Given the description of an element on the screen output the (x, y) to click on. 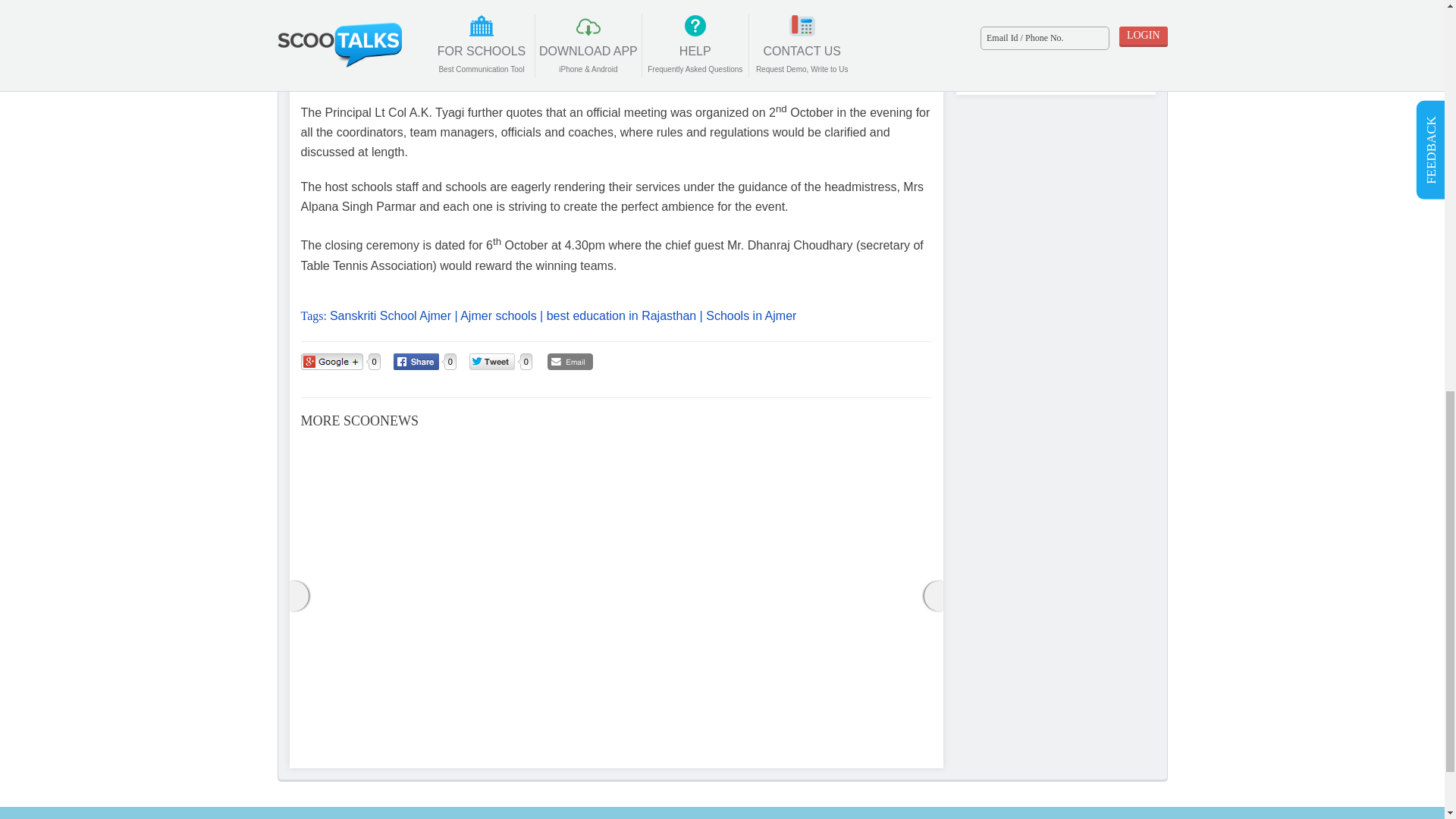
View News (826, 492)
View News (399, 485)
View News (830, 440)
View News (616, 440)
best education in Rajasthan (621, 315)
Grooming the groomers at this school (610, 504)
Read More... (893, 728)
 Best Education In Rajasthan (621, 315)
View News (610, 504)
Sanskriti School Ajmer (390, 315)
Read More... (464, 728)
 Ajmer Schools (497, 315)
Ajmer schools (497, 315)
 Schools In Ajmer (751, 315)
Sanskriti School Ajmer (390, 315)
